Given the description of an element on the screen output the (x, y) to click on. 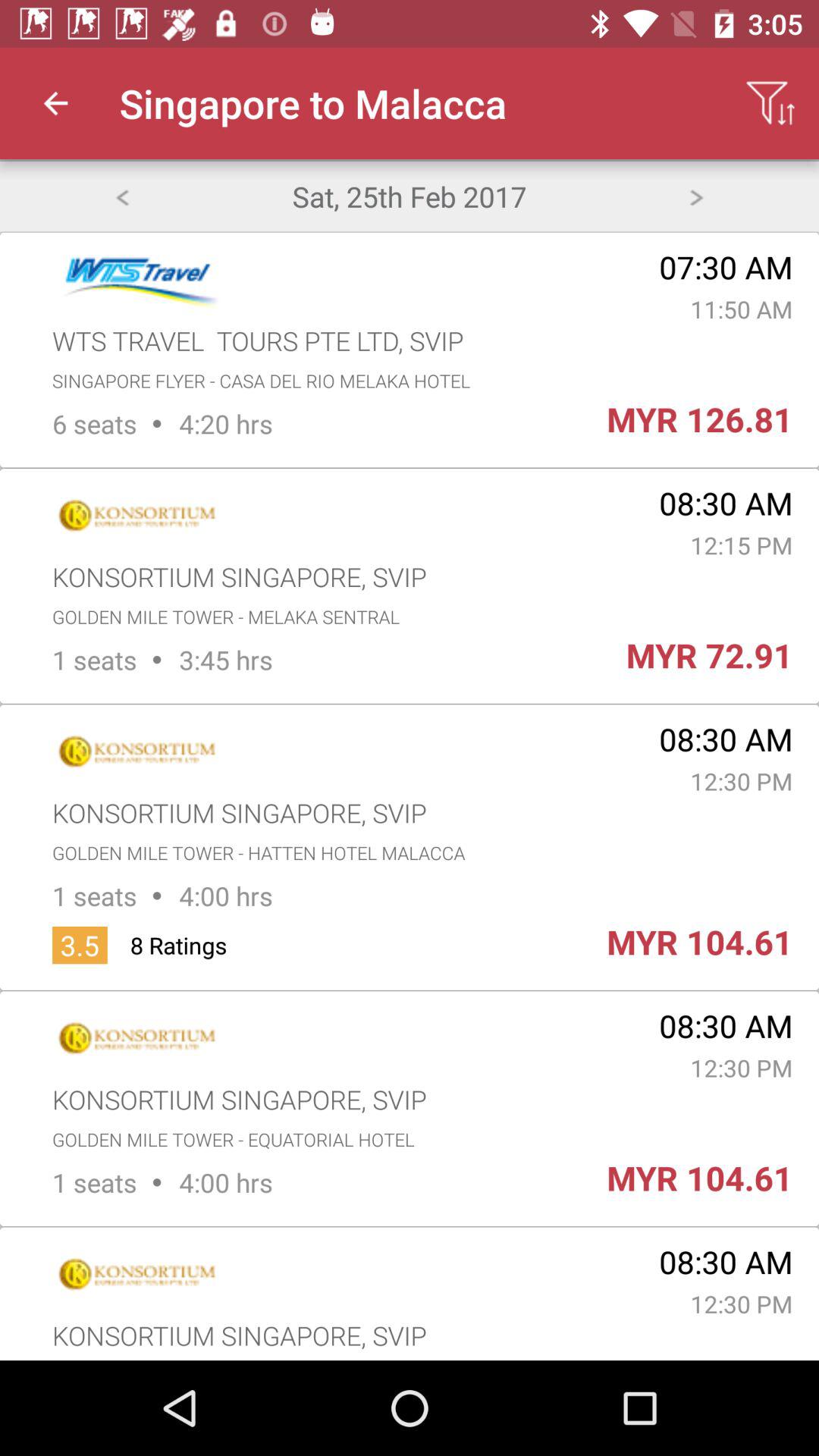
choose item next to sat 25th feb item (696, 196)
